Given the description of an element on the screen output the (x, y) to click on. 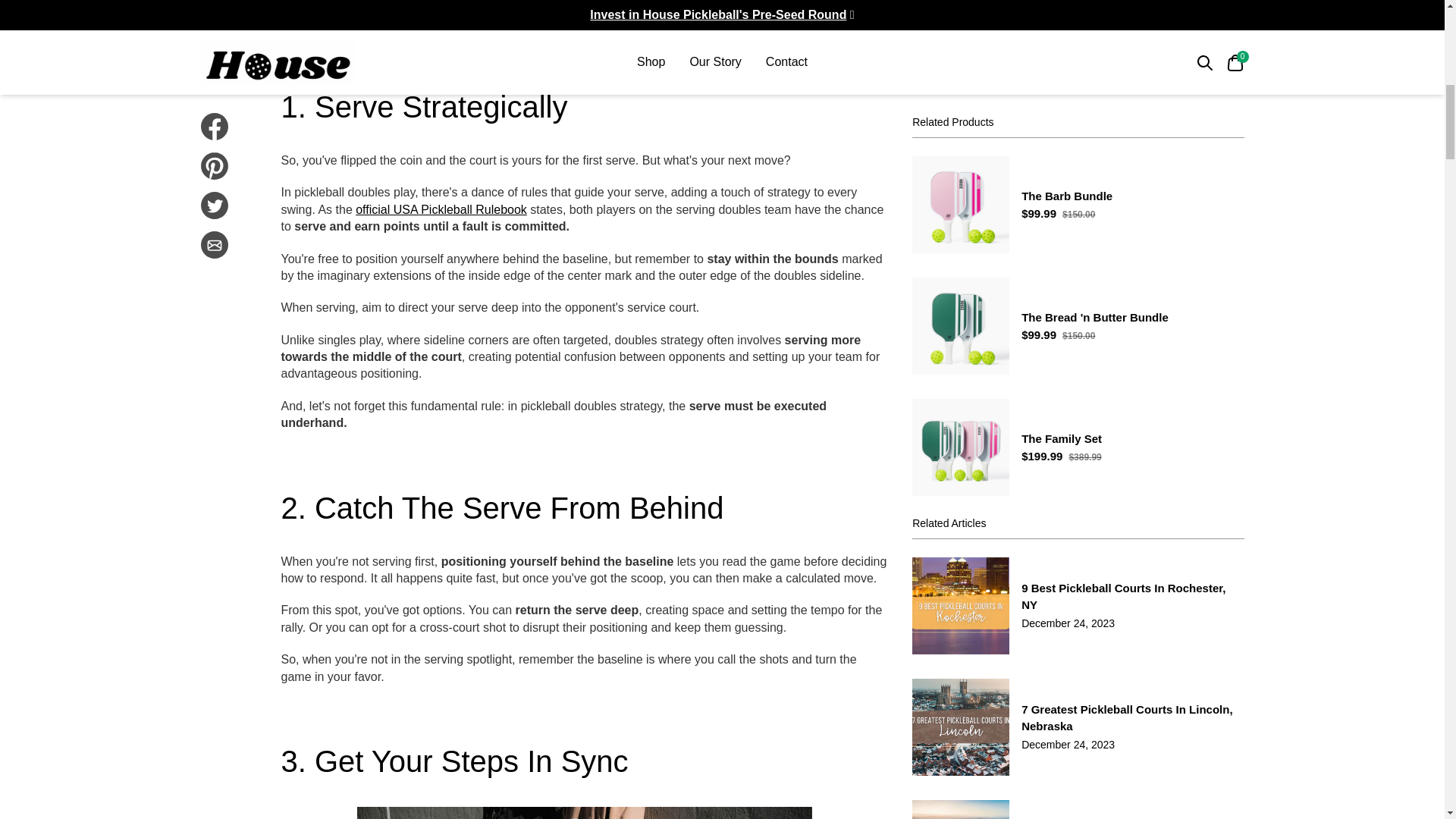
Share via Email (213, 47)
Share on Twitter (213, 11)
